Given the description of an element on the screen output the (x, y) to click on. 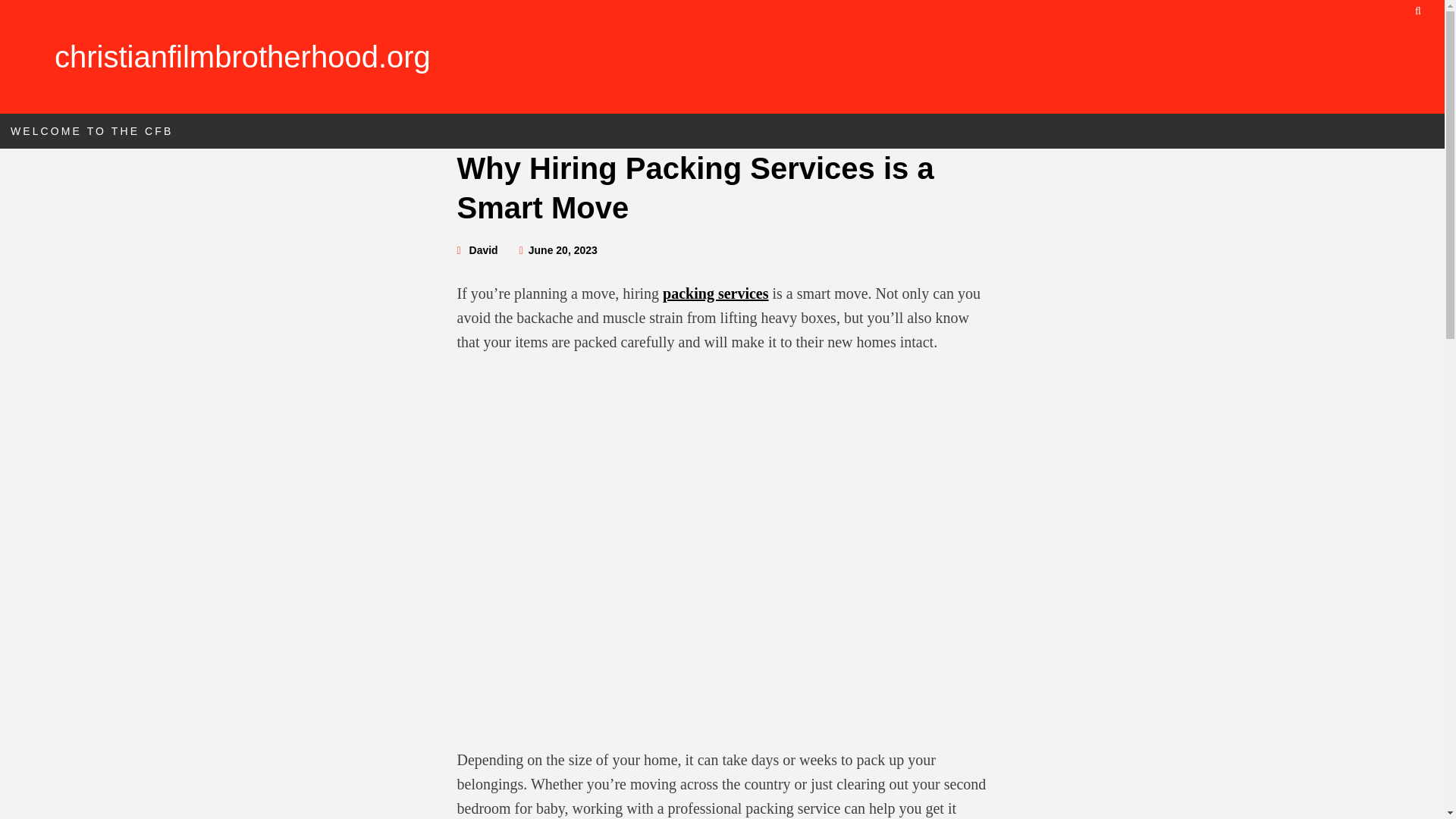
WELCOME TO THE CFB (91, 130)
June 20, 2023 (562, 250)
packing services (715, 293)
David (482, 250)
christianfilmbrotherhood.org (242, 56)
